Given the description of an element on the screen output the (x, y) to click on. 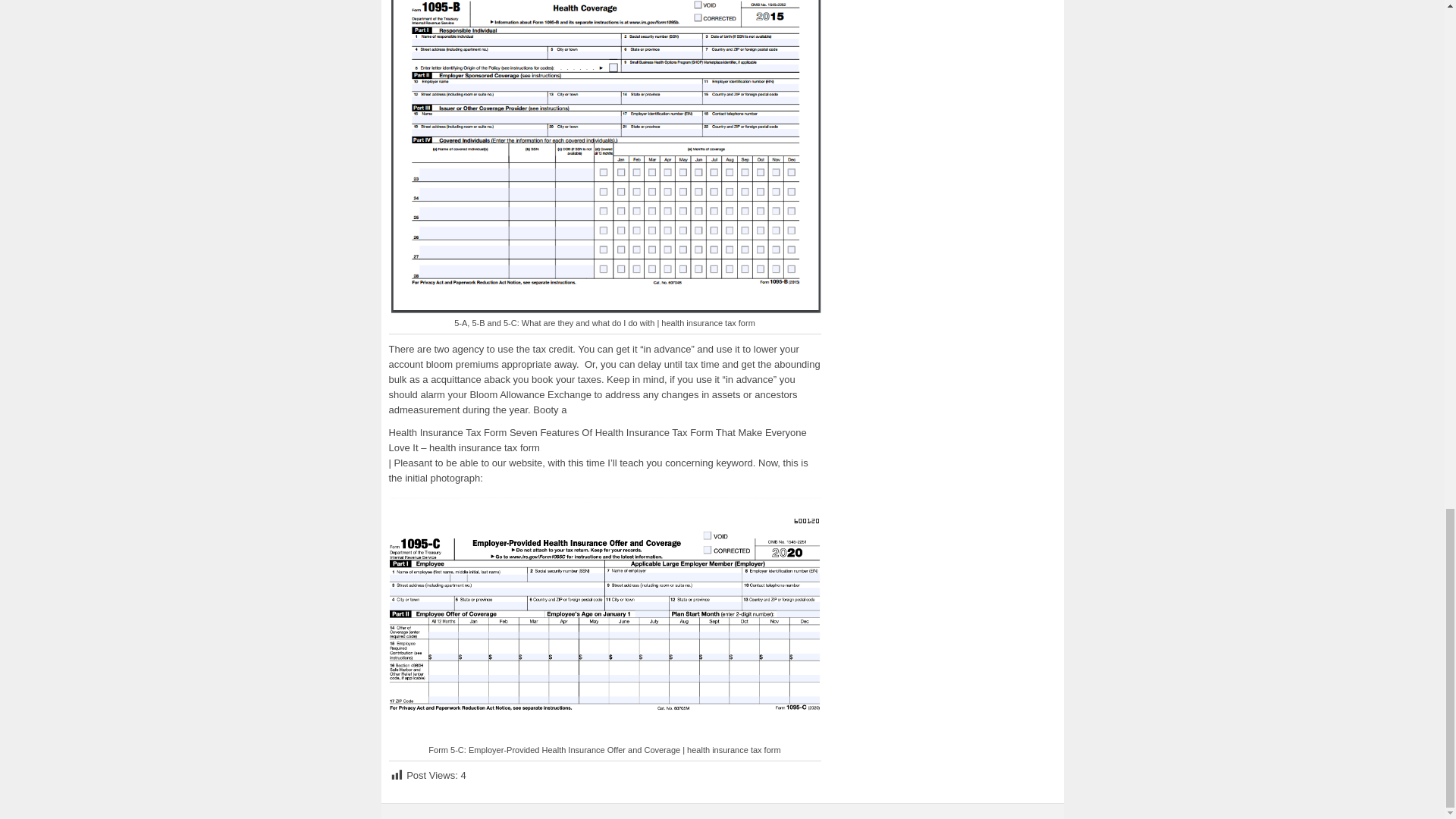
health insurance tax form (604, 619)
